Given the description of an element on the screen output the (x, y) to click on. 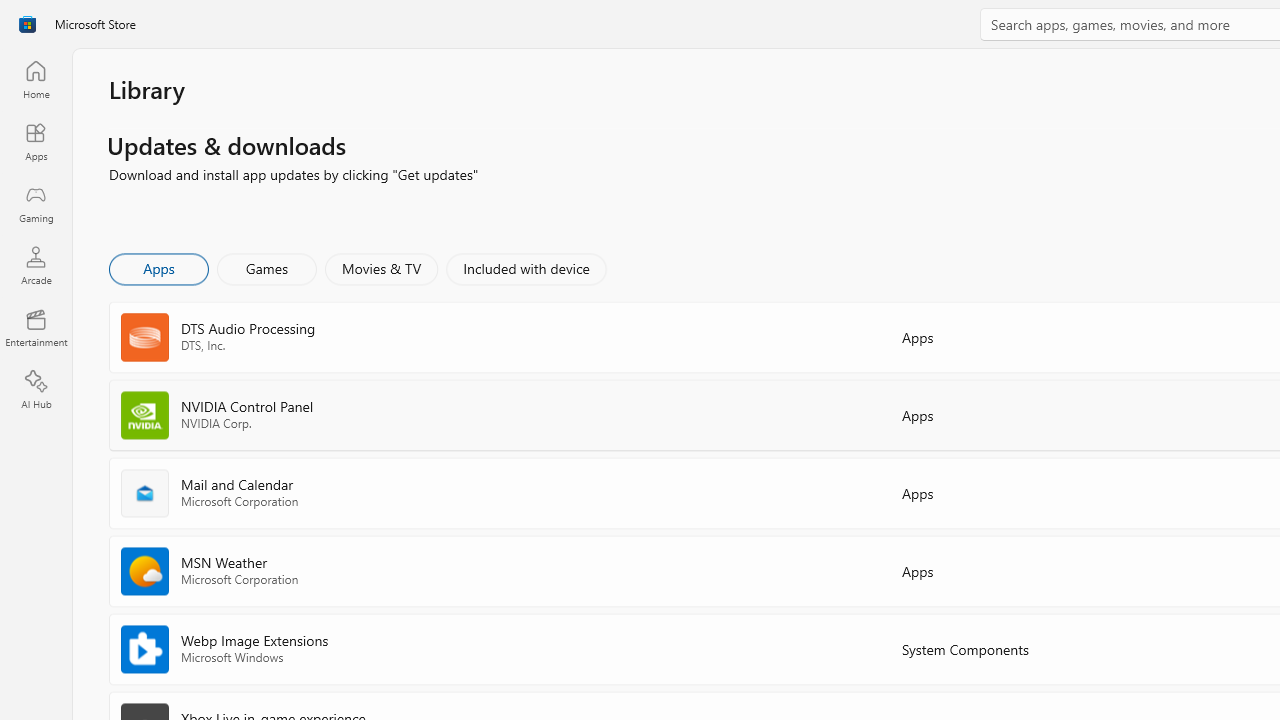
Movies & TV (381, 268)
Included with device (525, 268)
Games (267, 268)
